Given the description of an element on the screen output the (x, y) to click on. 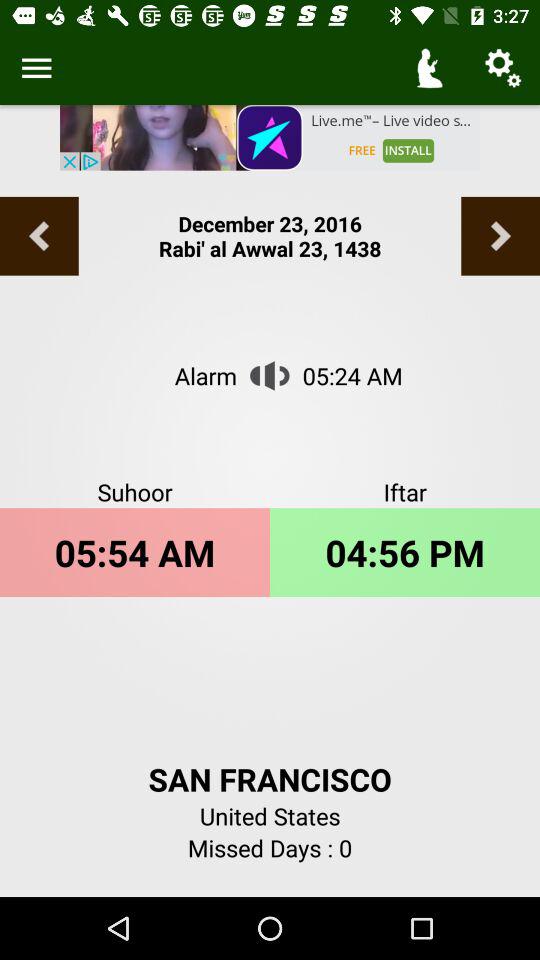
go back (39, 235)
